Given the description of an element on the screen output the (x, y) to click on. 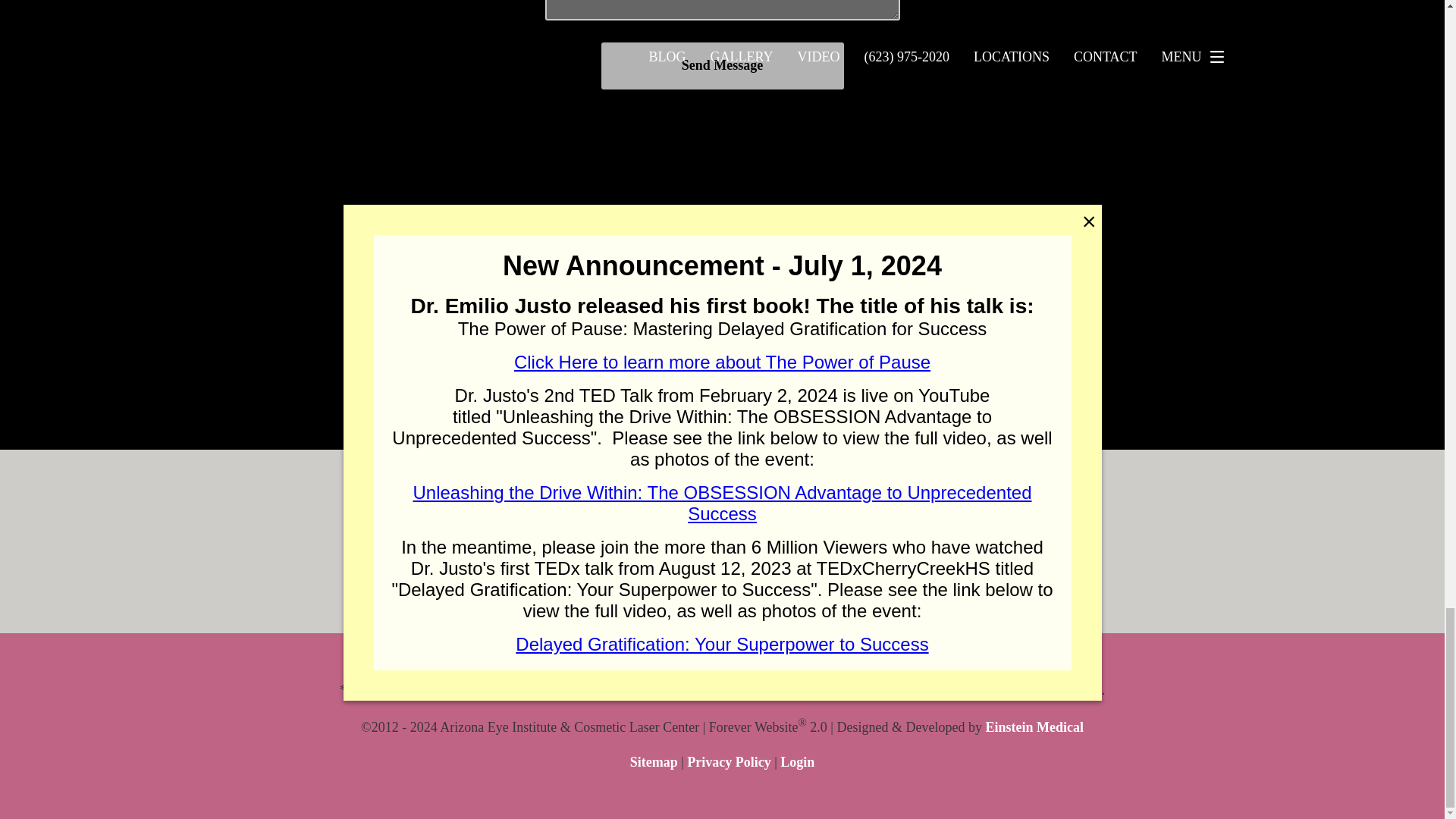
Google (718, 540)
Facebook (900, 540)
YouTube (960, 540)
Google (778, 540)
Send Message (721, 65)
Google (839, 540)
